Given the description of an element on the screen output the (x, y) to click on. 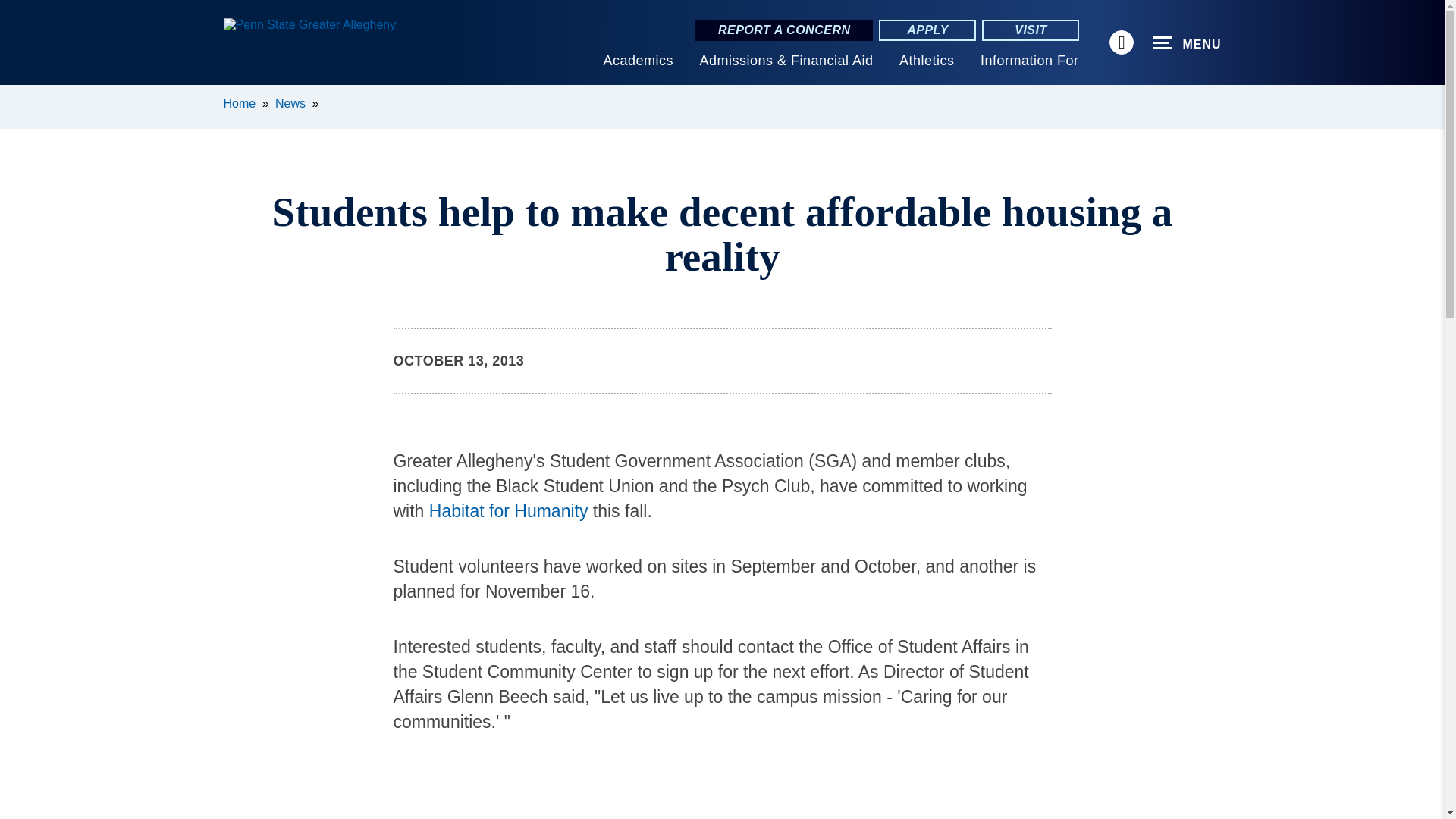
VISIT (1029, 29)
REPORT A CONCERN (784, 29)
Athletics (927, 60)
APPLY (927, 29)
Academics (637, 60)
Information For (1028, 60)
SKIP TO MAIN CONTENT (19, 95)
MENU (1187, 43)
